Given the description of an element on the screen output the (x, y) to click on. 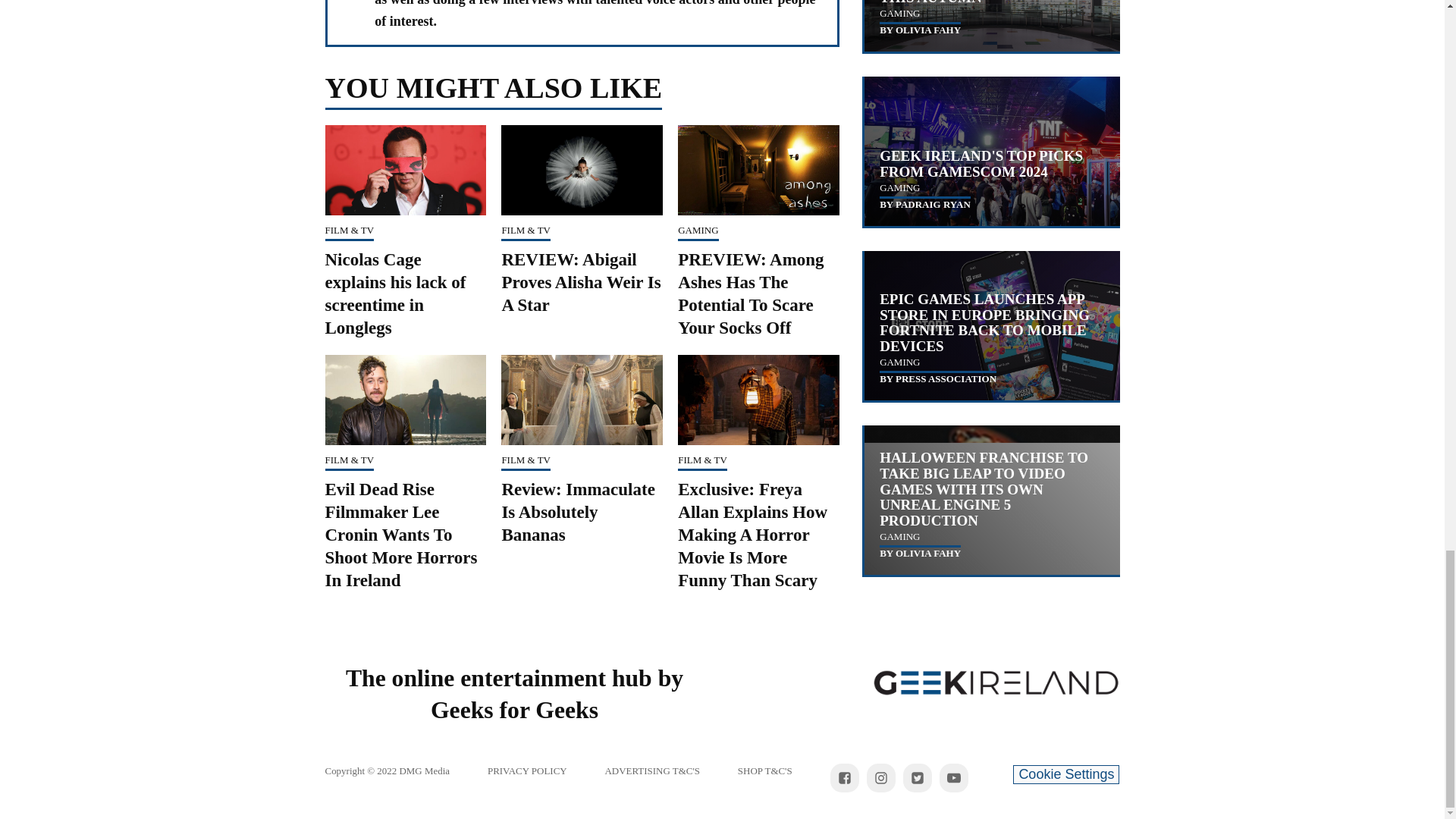
Nicolas Cage explains his lack of screentime in Longlegs (394, 293)
Review: Immaculate Is Absolutely Bananas (576, 511)
GAMING (697, 229)
REVIEW: Abigail Proves Alisha Weir Is A Star (580, 282)
